Given the description of an element on the screen output the (x, y) to click on. 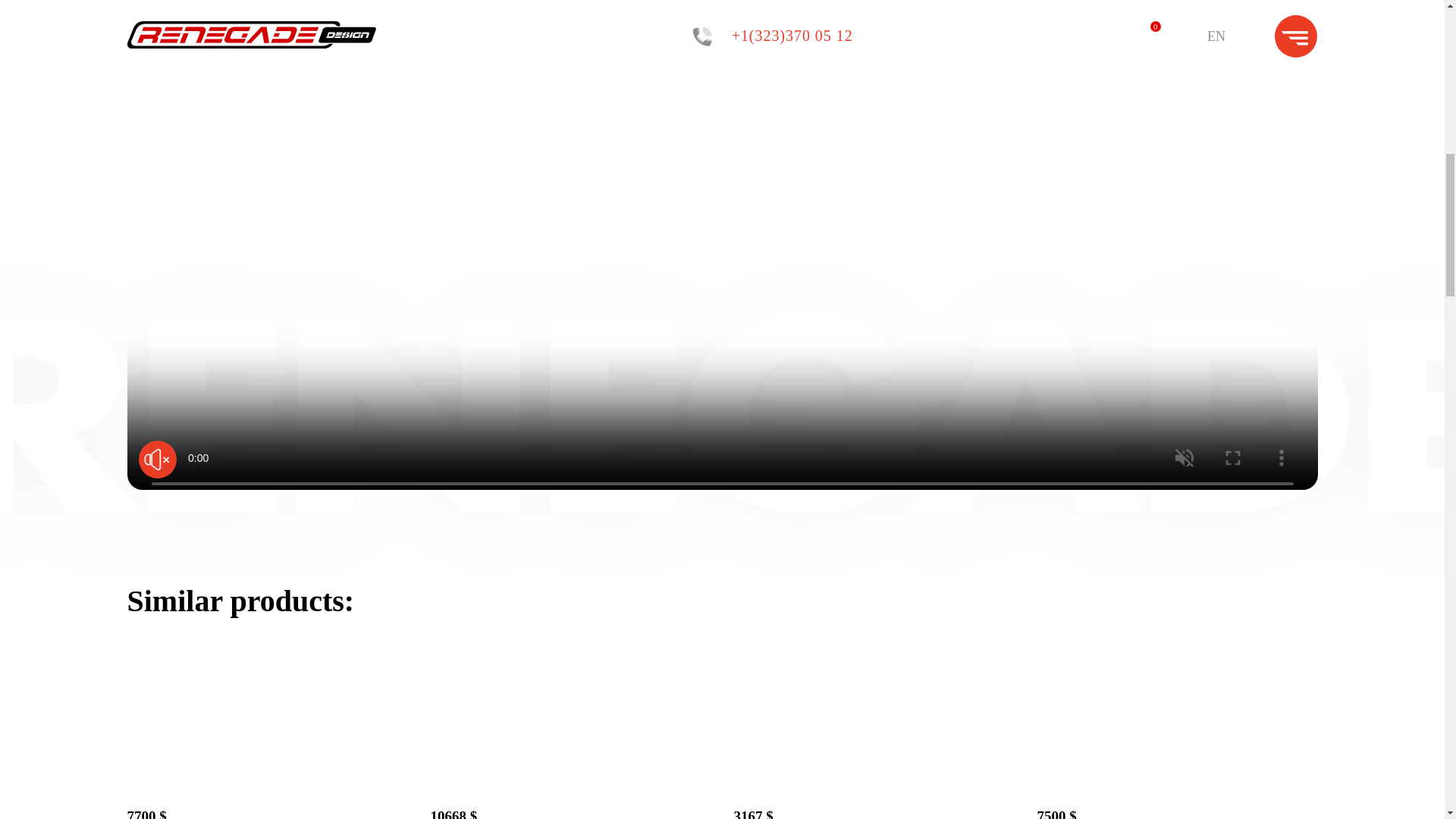
Carbon hood for BMW XM (1176, 785)
Capristo exhaust for BMW XM G09 (267, 785)
Hood for BMW XM (873, 785)
Akrapovic exhaust system for BMW XM G09 (570, 785)
